Given the description of an element on the screen output the (x, y) to click on. 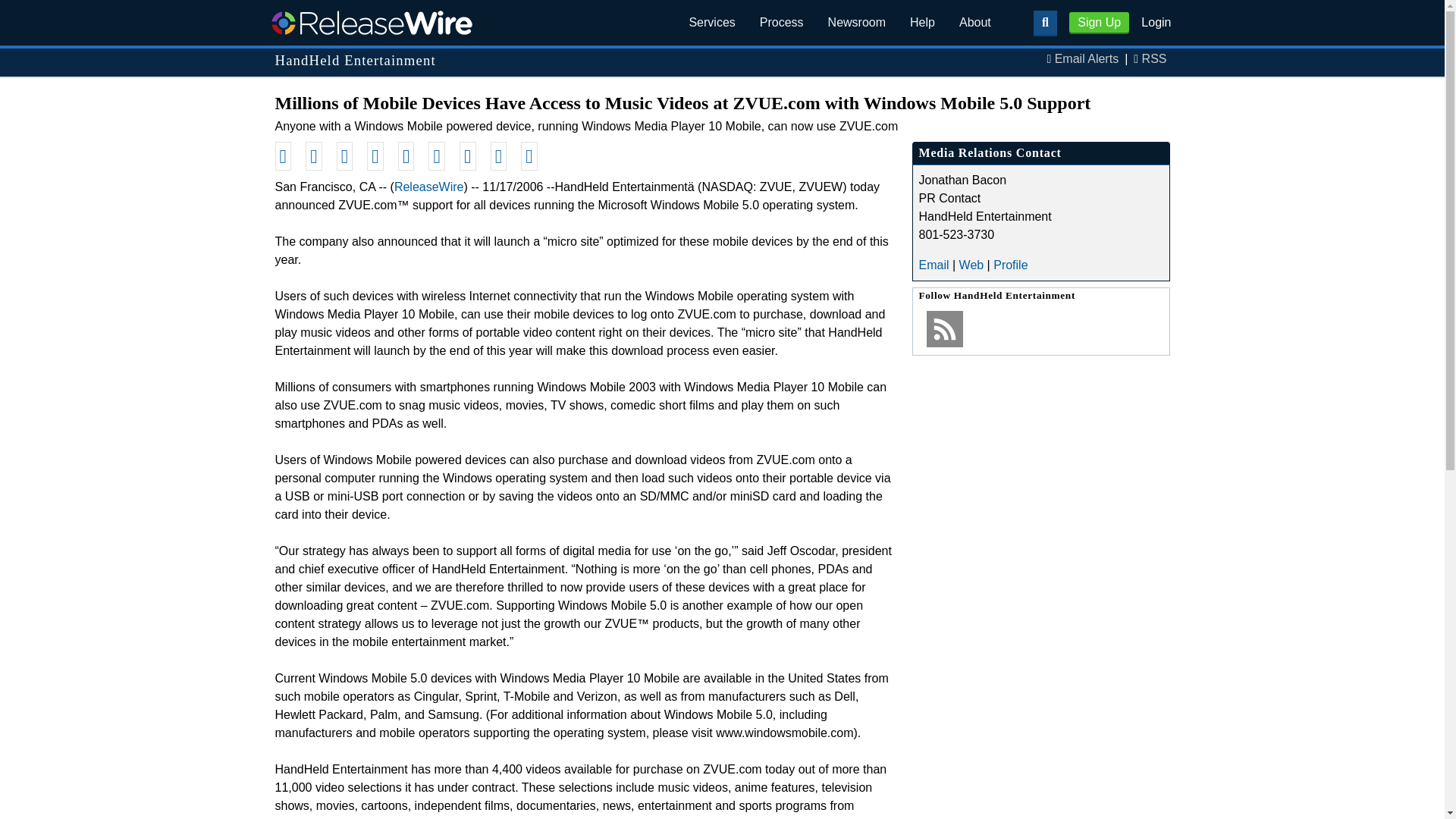
Newsroom (856, 22)
RSS (1154, 58)
About (975, 22)
Email Alerts (1086, 58)
Profile (1009, 264)
Process (781, 22)
Email (933, 264)
ReleaseWire (371, 22)
Sign Up (1098, 22)
Login (1155, 21)
Web (971, 264)
Services (711, 22)
Help (922, 22)
ReleaseWire (429, 186)
